Given the description of an element on the screen output the (x, y) to click on. 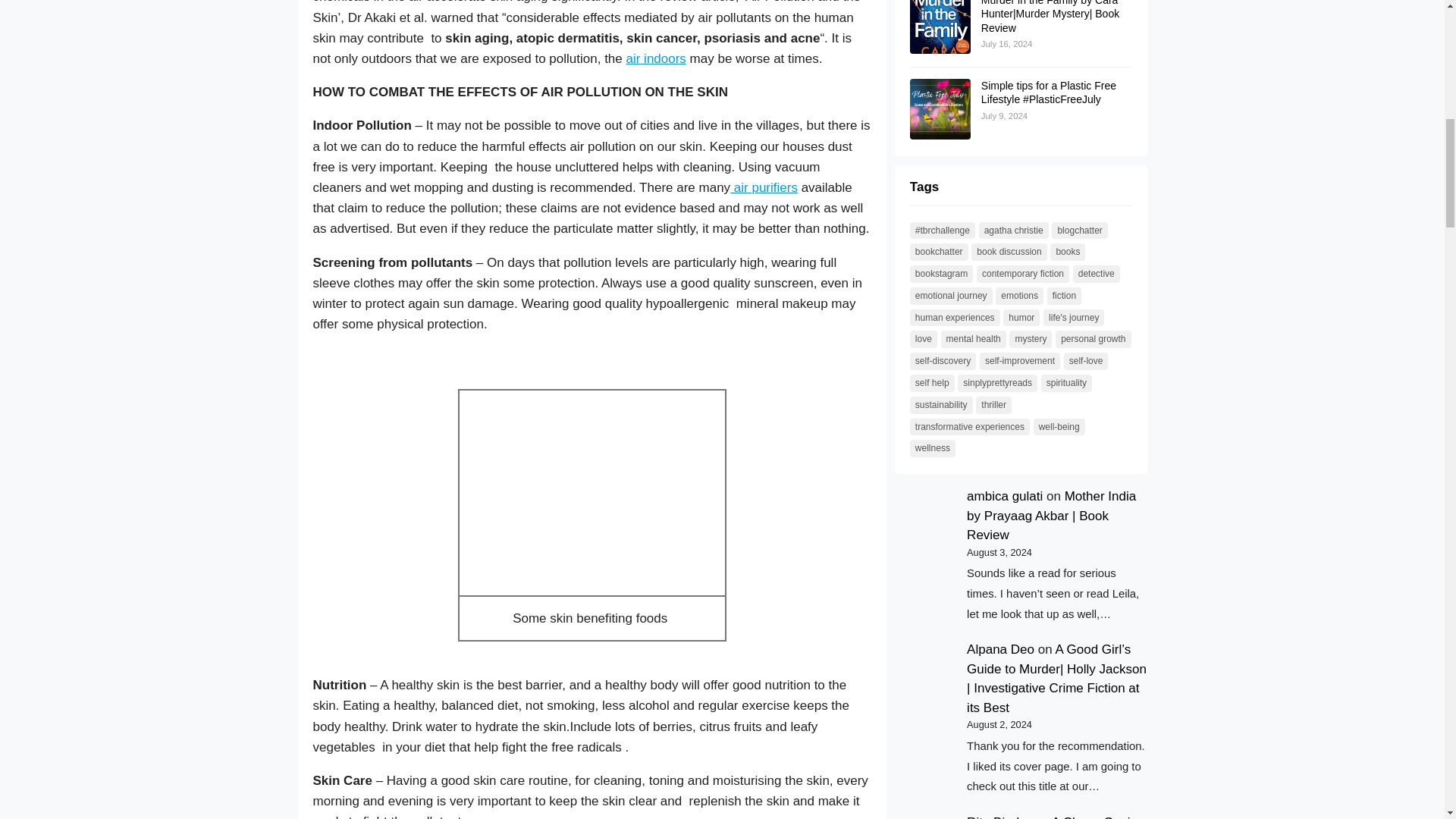
air indoors (655, 58)
air purifiers (763, 187)
